Given the description of an element on the screen output the (x, y) to click on. 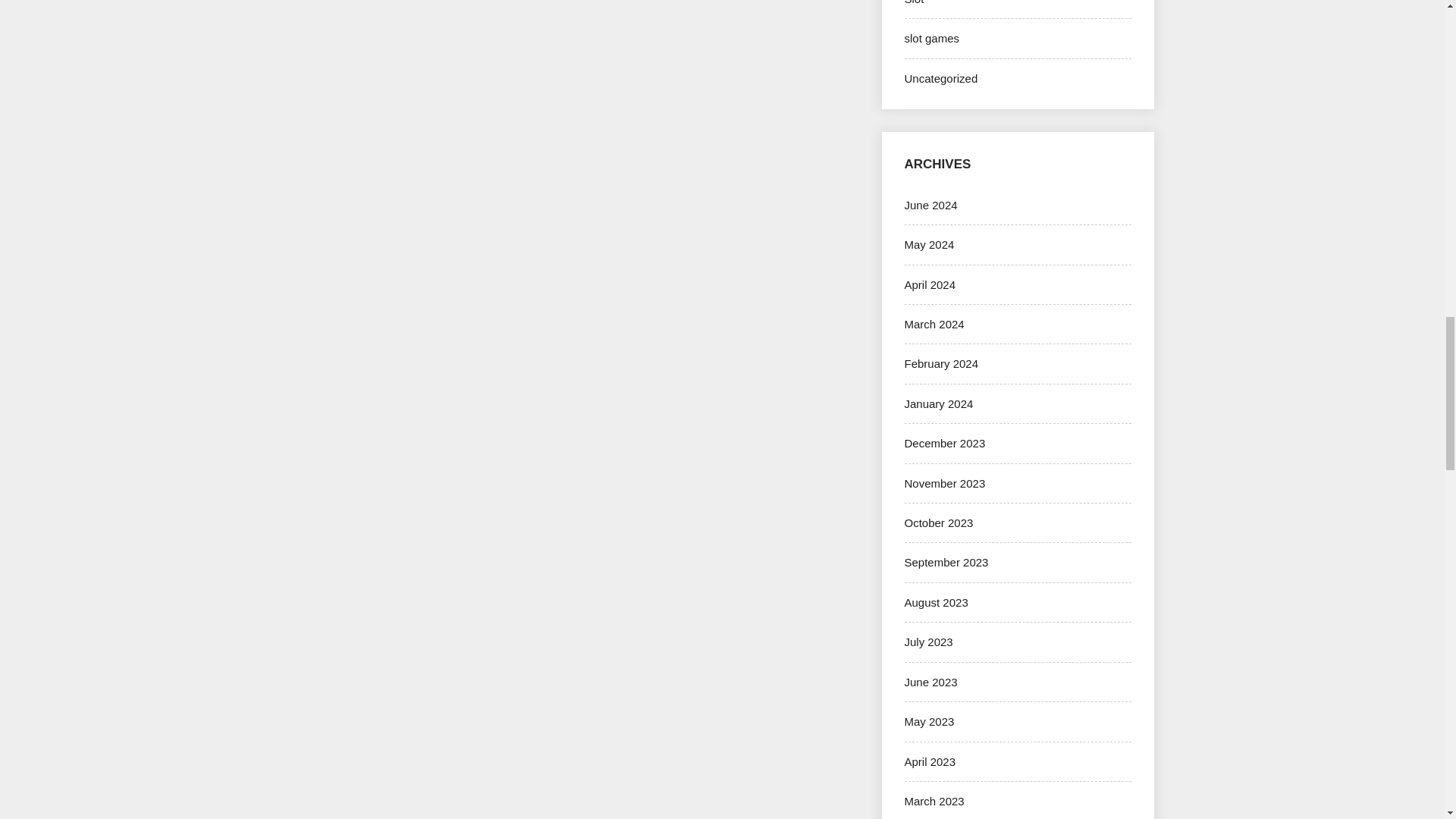
Slot (913, 2)
